Given the description of an element on the screen output the (x, y) to click on. 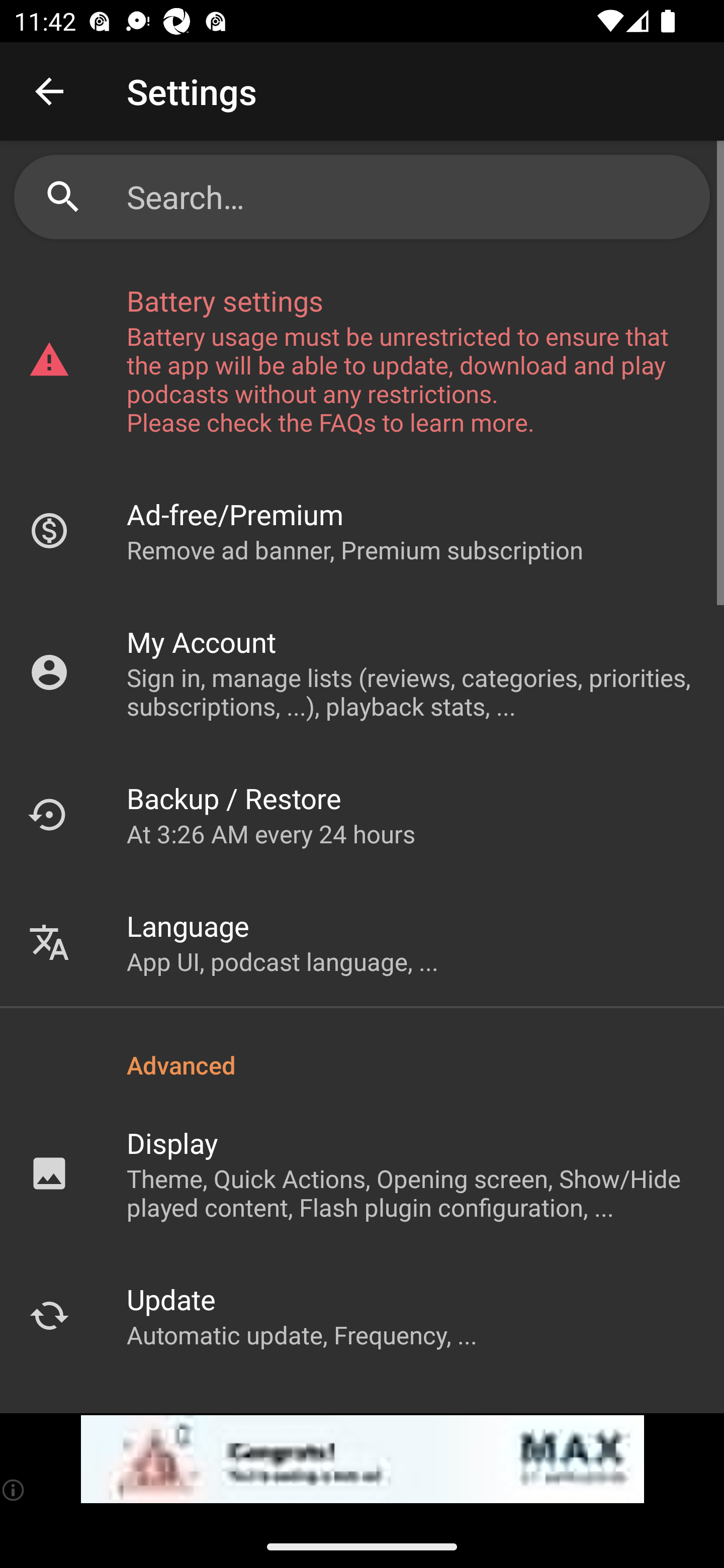
Navigate up (49, 91)
Search… (361, 197)
Search… (410, 196)
Backup / Restore At 3:26 AM every 24 hours (362, 814)
Language App UI, podcast language, ... (362, 942)
Update Automatic update, Frequency, ... (362, 1315)
app-monetization (362, 1459)
(i) (14, 1489)
